Given the description of an element on the screen output the (x, y) to click on. 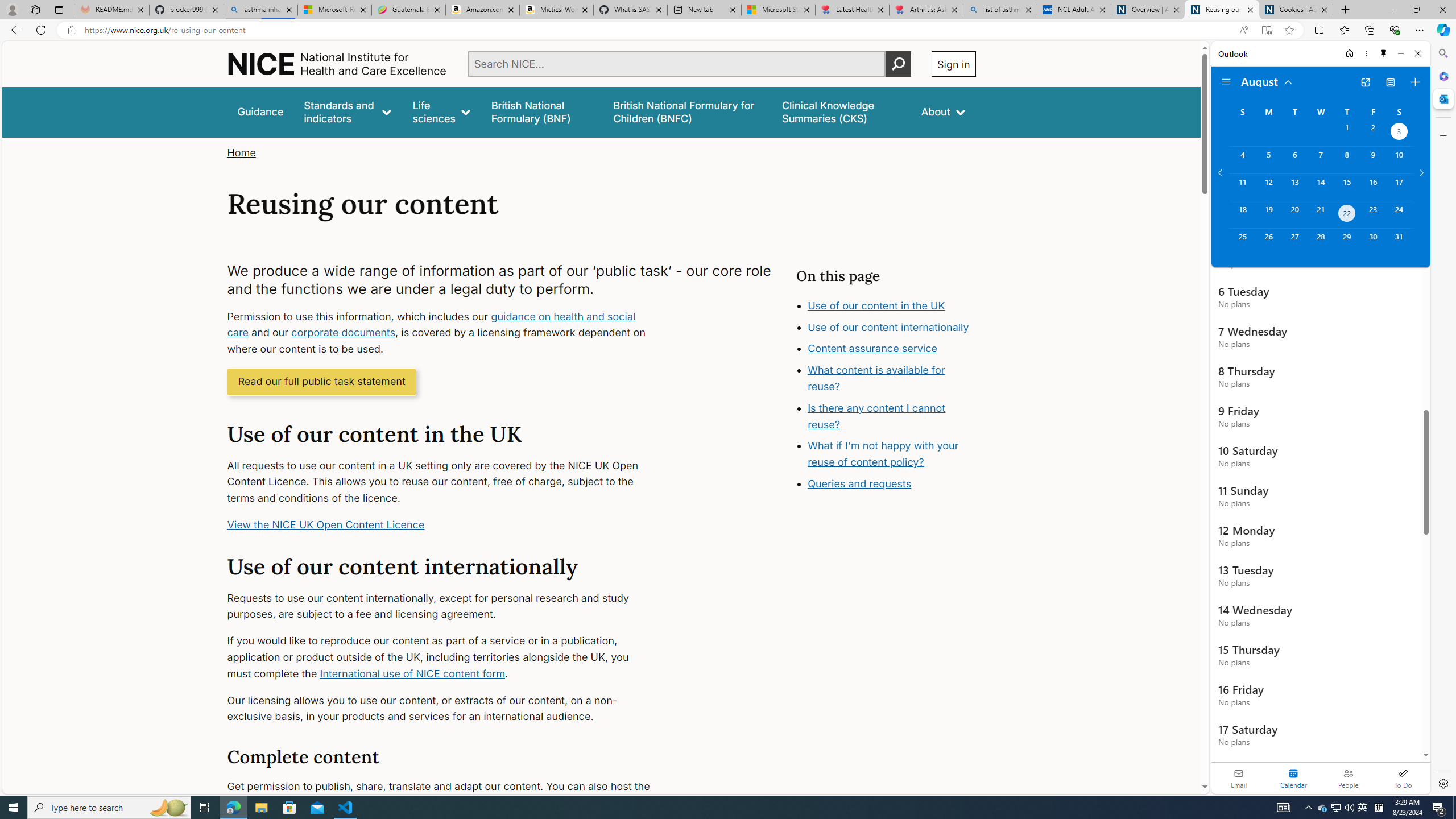
Wednesday, August 28, 2024.  (1320, 241)
